Given the description of an element on the screen output the (x, y) to click on. 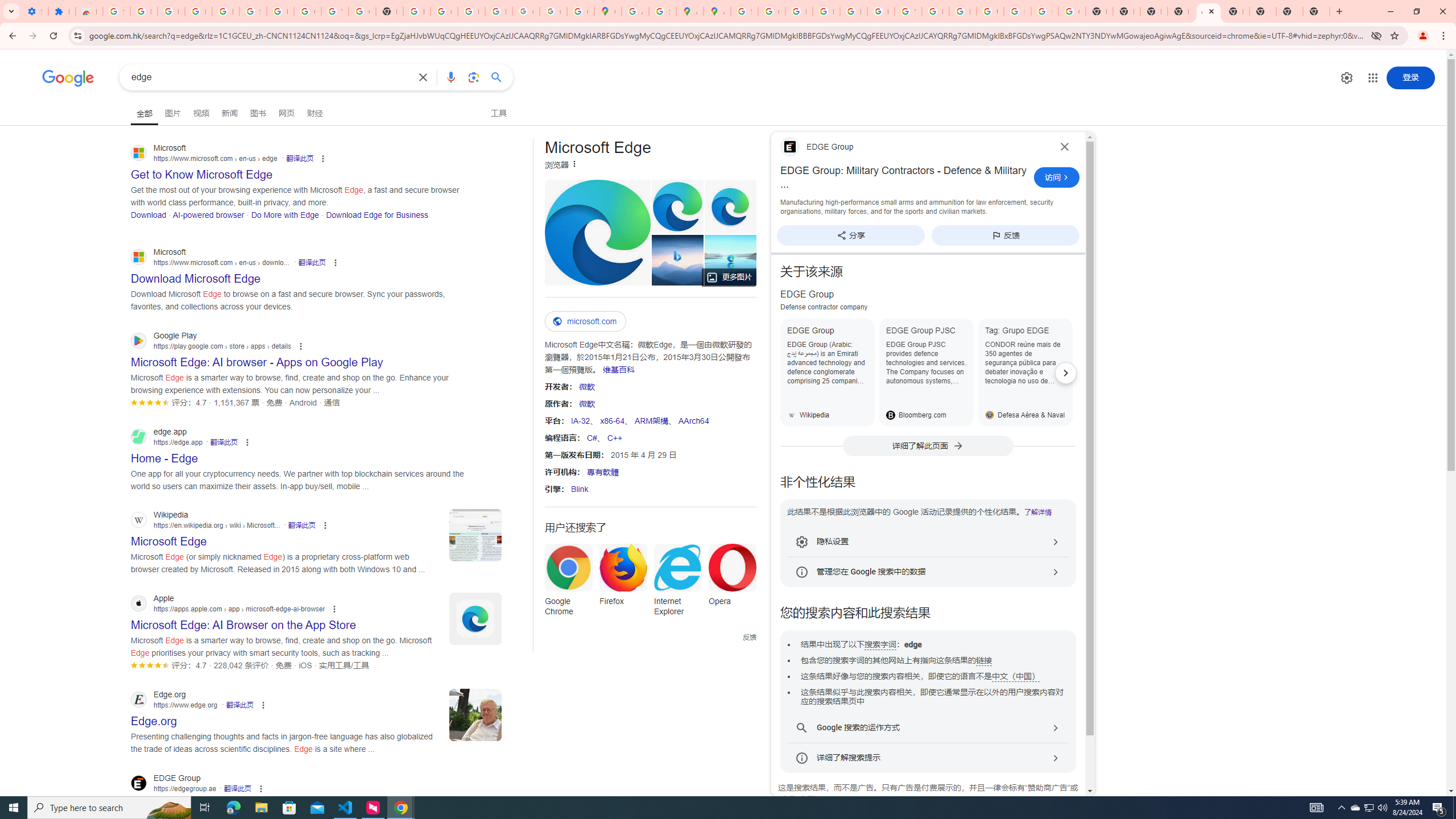
Privacy Help Center - Policies Help (826, 11)
Do More with Edge (284, 214)
Settings - On startup (34, 11)
 Edge.org Edge.org https://www.edge.org (154, 717)
Delete photos & videos - Computer - Google Photos Help (170, 11)
upload.wikimedia.org/wikipedia/commons/9/98/Micros... (597, 232)
Learn how to find your photos - Google Photos Help (197, 11)
Reviews: Helix Fruit Jump Arcade Game (88, 11)
